Given the description of an element on the screen output the (x, y) to click on. 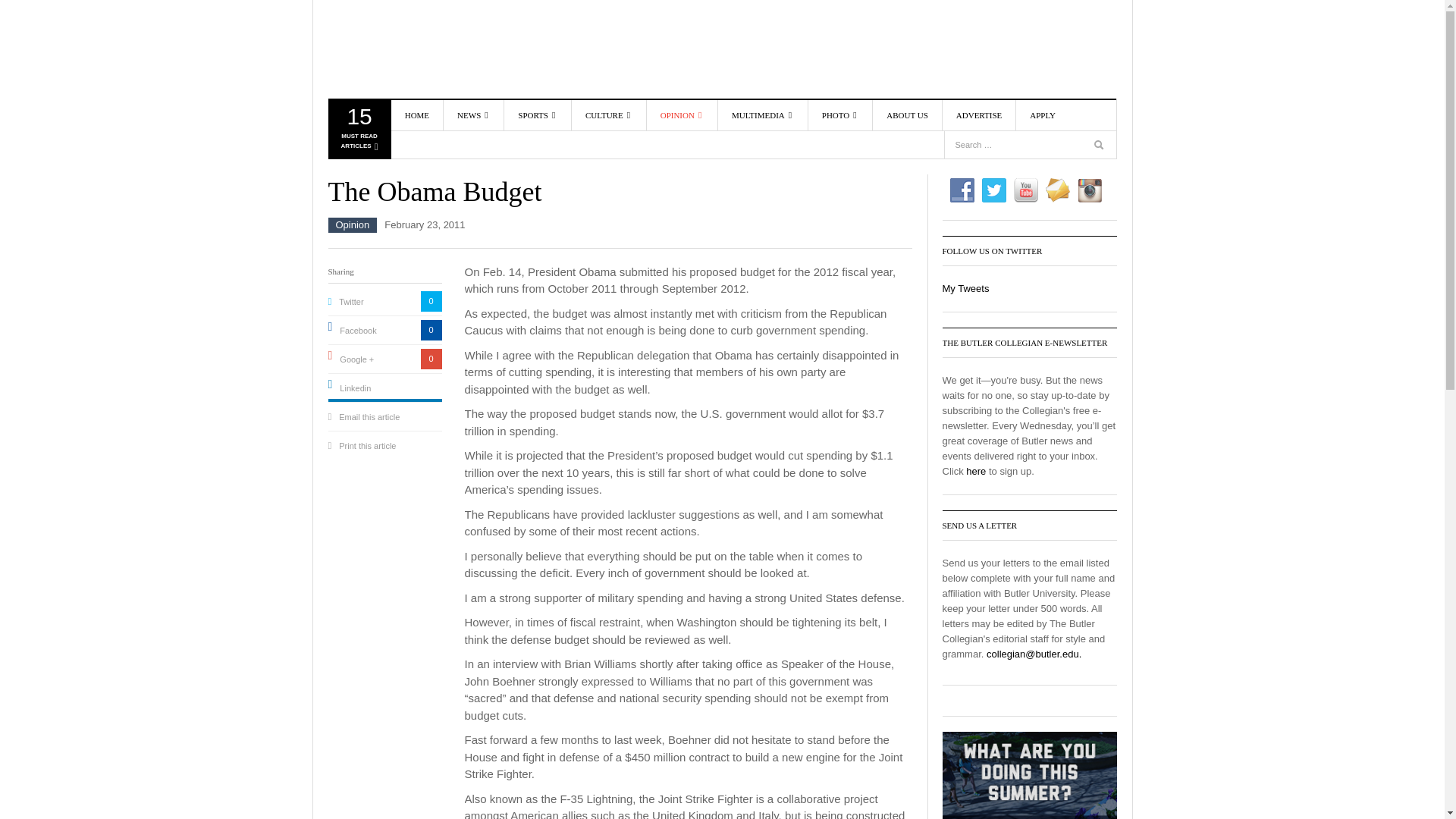
Search (1100, 146)
NEWS (499, 149)
HOME (416, 114)
Search (1091, 115)
BREAKING NEWS (358, 132)
NEWS (499, 171)
The Butler Collegian (473, 114)
The Butler Collegian (414, 49)
